Given the description of an element on the screen output the (x, y) to click on. 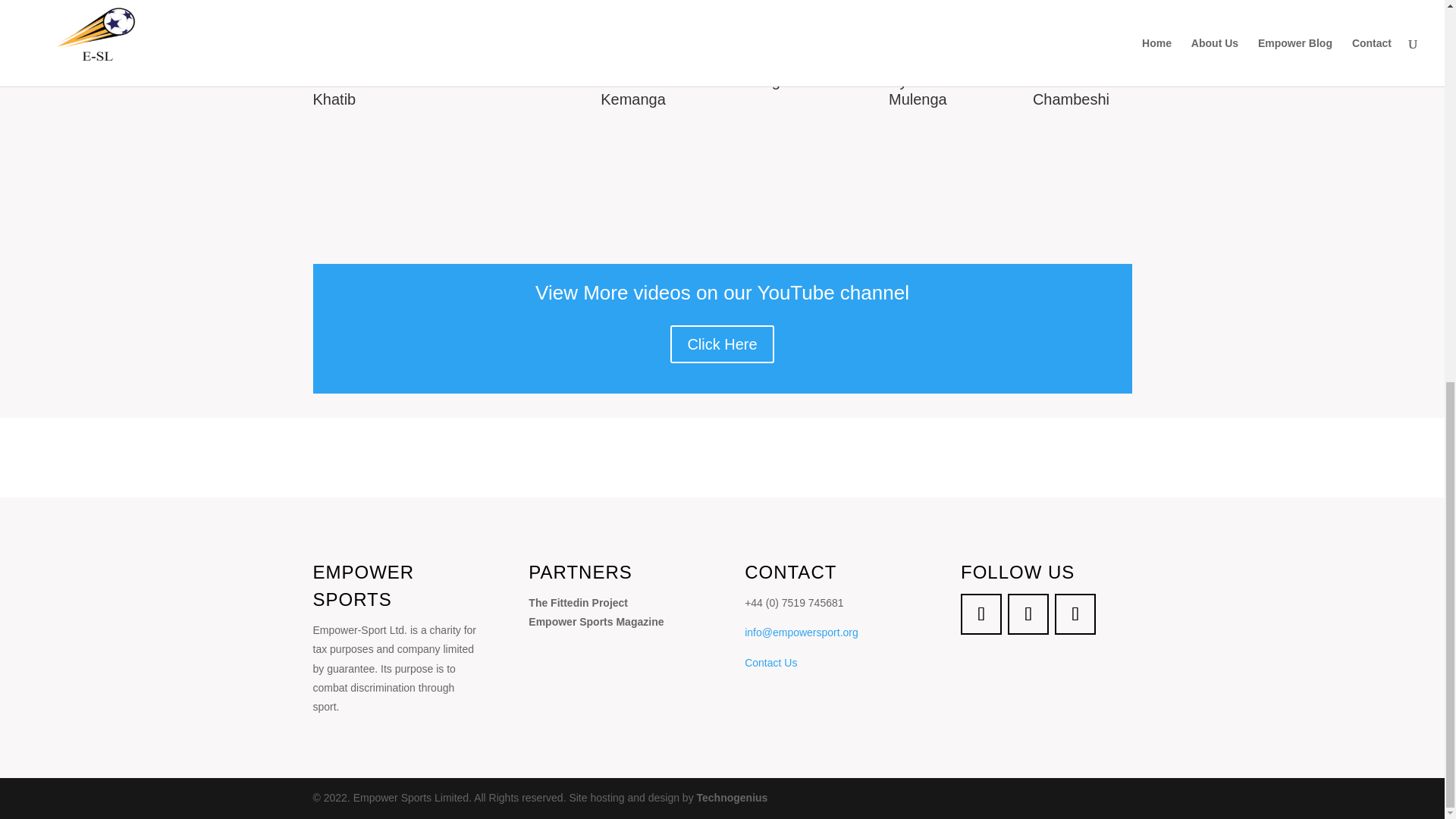
Empower Sports Magazine (595, 621)
The Fittedin Project (577, 603)
Contact Us (770, 662)
Follow on Youtube (1075, 613)
Follow on Twitter (1027, 613)
Follow on Facebook (980, 613)
Click Here (721, 344)
Technogenius (732, 797)
